Given the description of an element on the screen output the (x, y) to click on. 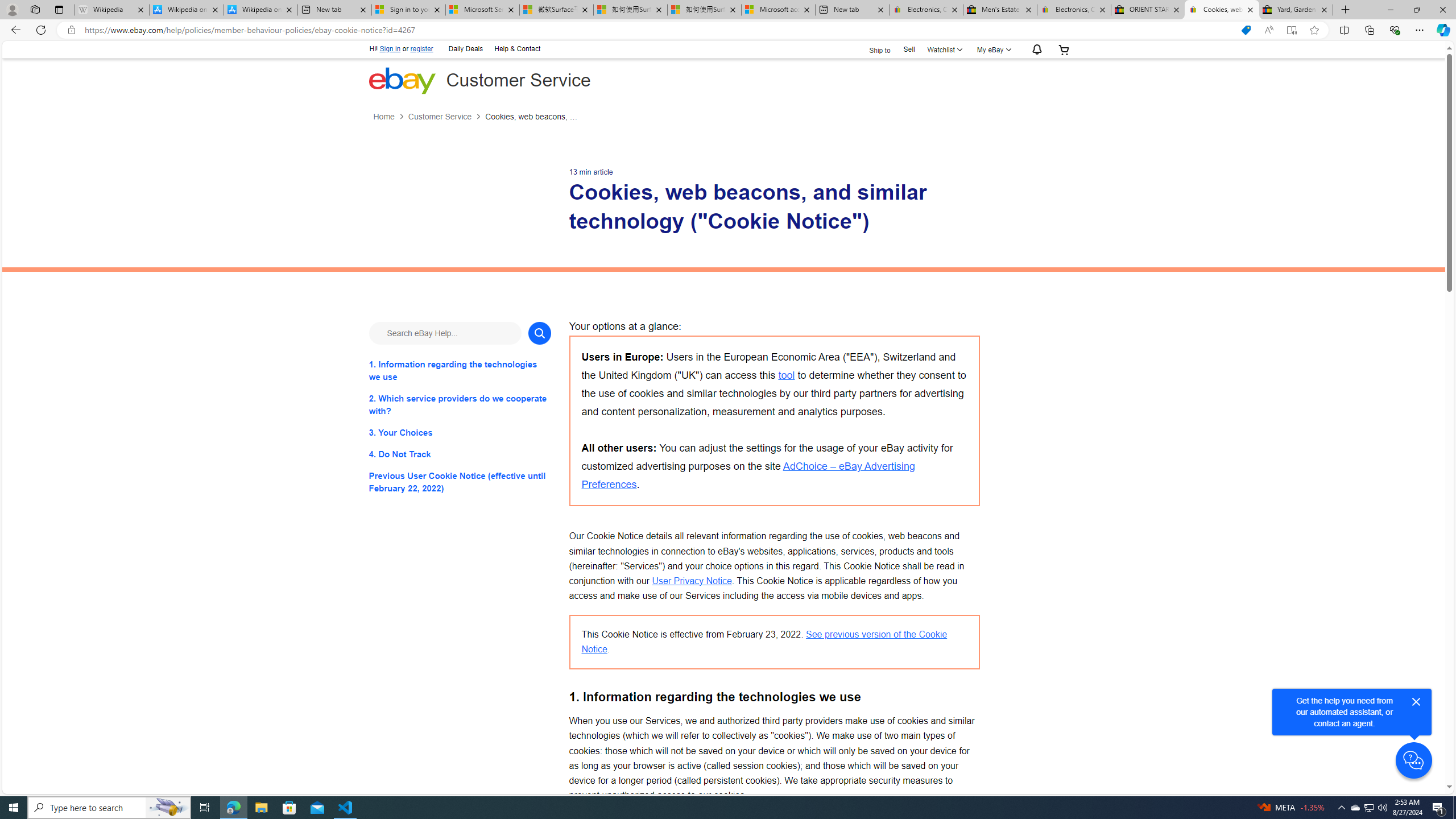
Help & Contact (516, 48)
Your shopping cart (1064, 49)
1. Information regarding the technologies we use (459, 370)
4. Do Not Track (459, 453)
Sell (909, 49)
Sell (908, 49)
My eBayExpand My eBay (992, 49)
tool - opens in new window or tab (785, 374)
Ship to (872, 48)
